Given the description of an element on the screen output the (x, y) to click on. 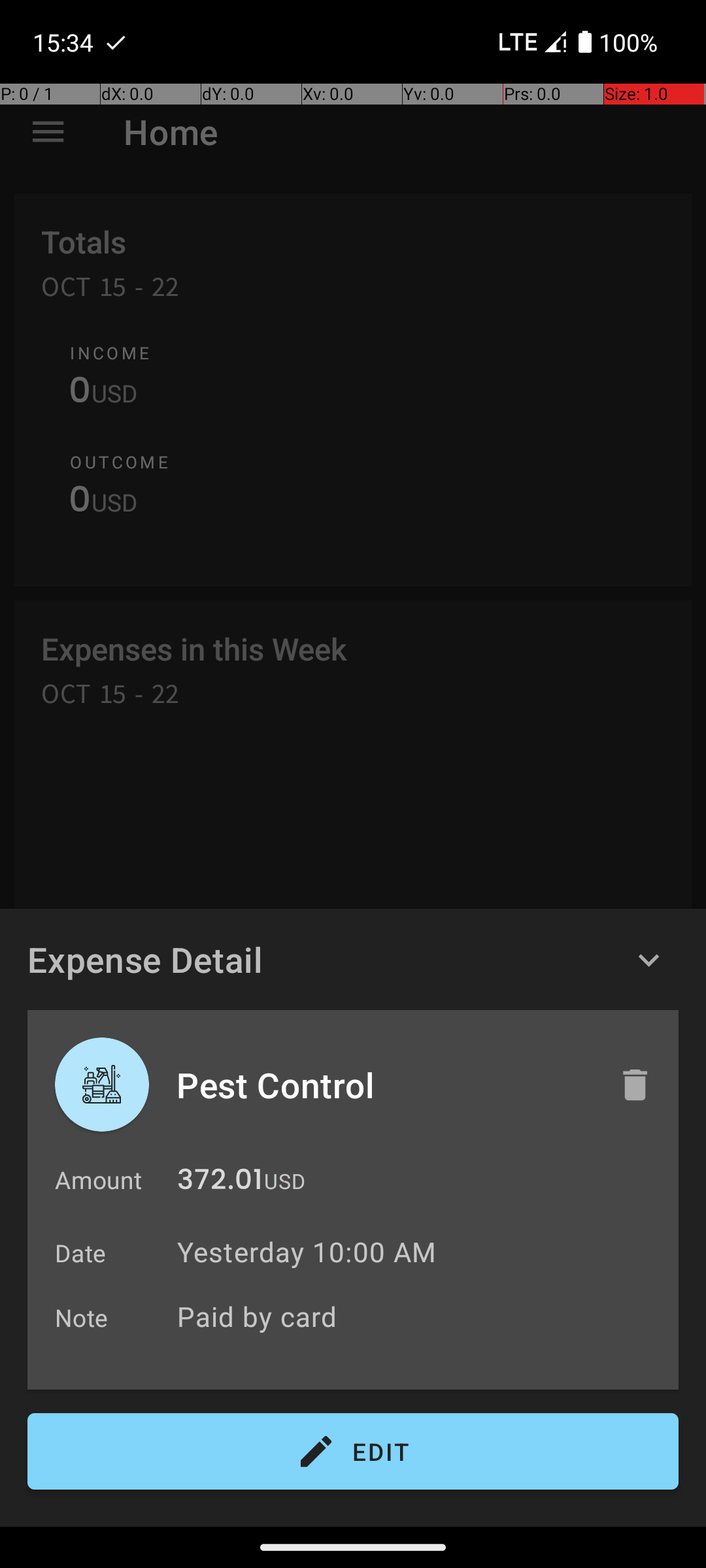
Pest Control Element type: android.widget.TextView (383, 1084)
372.01 Element type: android.widget.TextView (219, 1182)
Yesterday 10:00 AM Element type: android.widget.TextView (306, 1251)
